Given the description of an element on the screen output the (x, y) to click on. 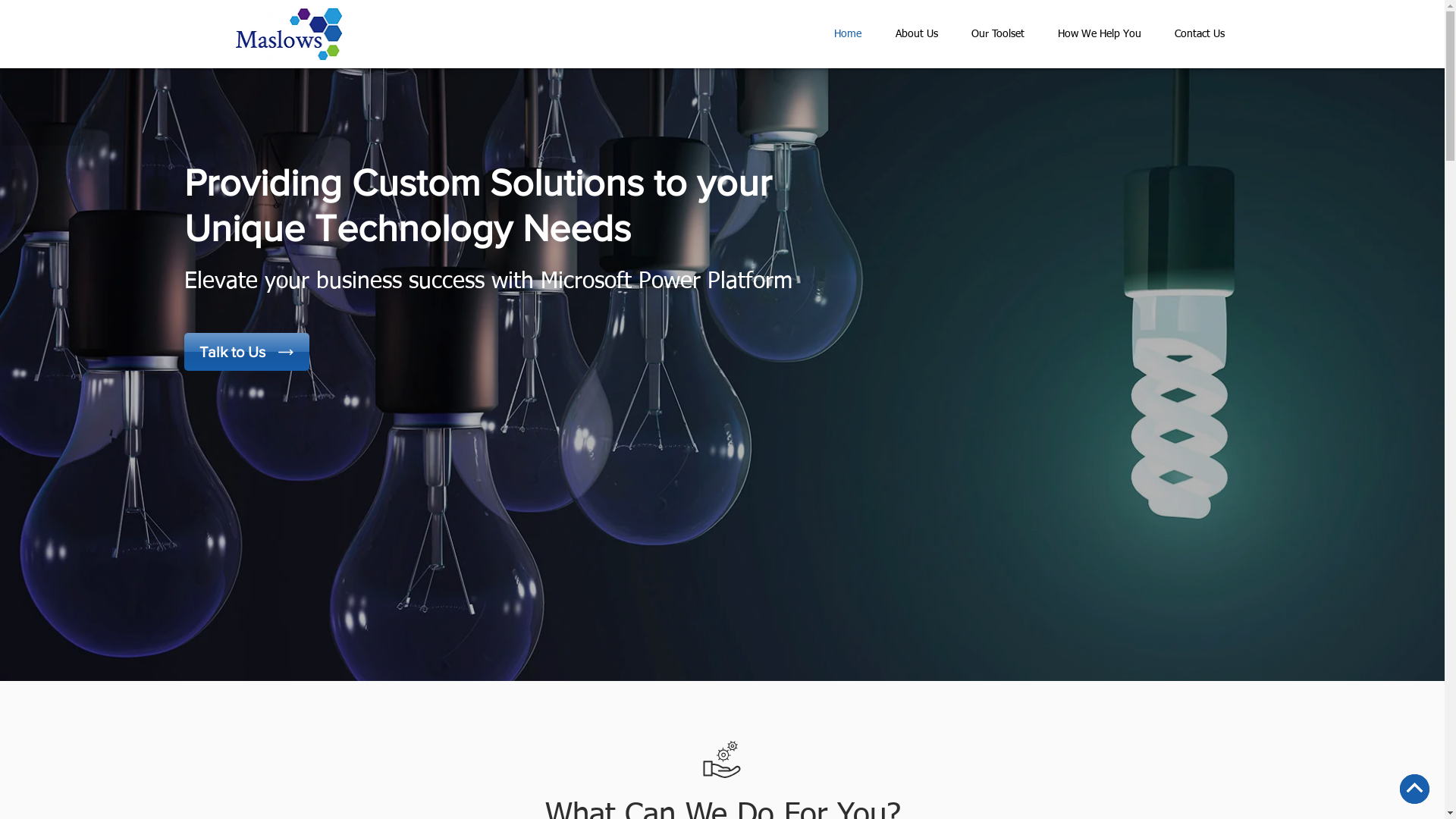
Contact Us Element type: text (1198, 34)
Talk to Us Element type: text (245, 351)
Our Toolset Element type: text (996, 34)
Maslows Logo.png Element type: hover (288, 33)
Home Element type: text (847, 34)
How We Help You Element type: text (1098, 34)
